Given the description of an element on the screen output the (x, y) to click on. 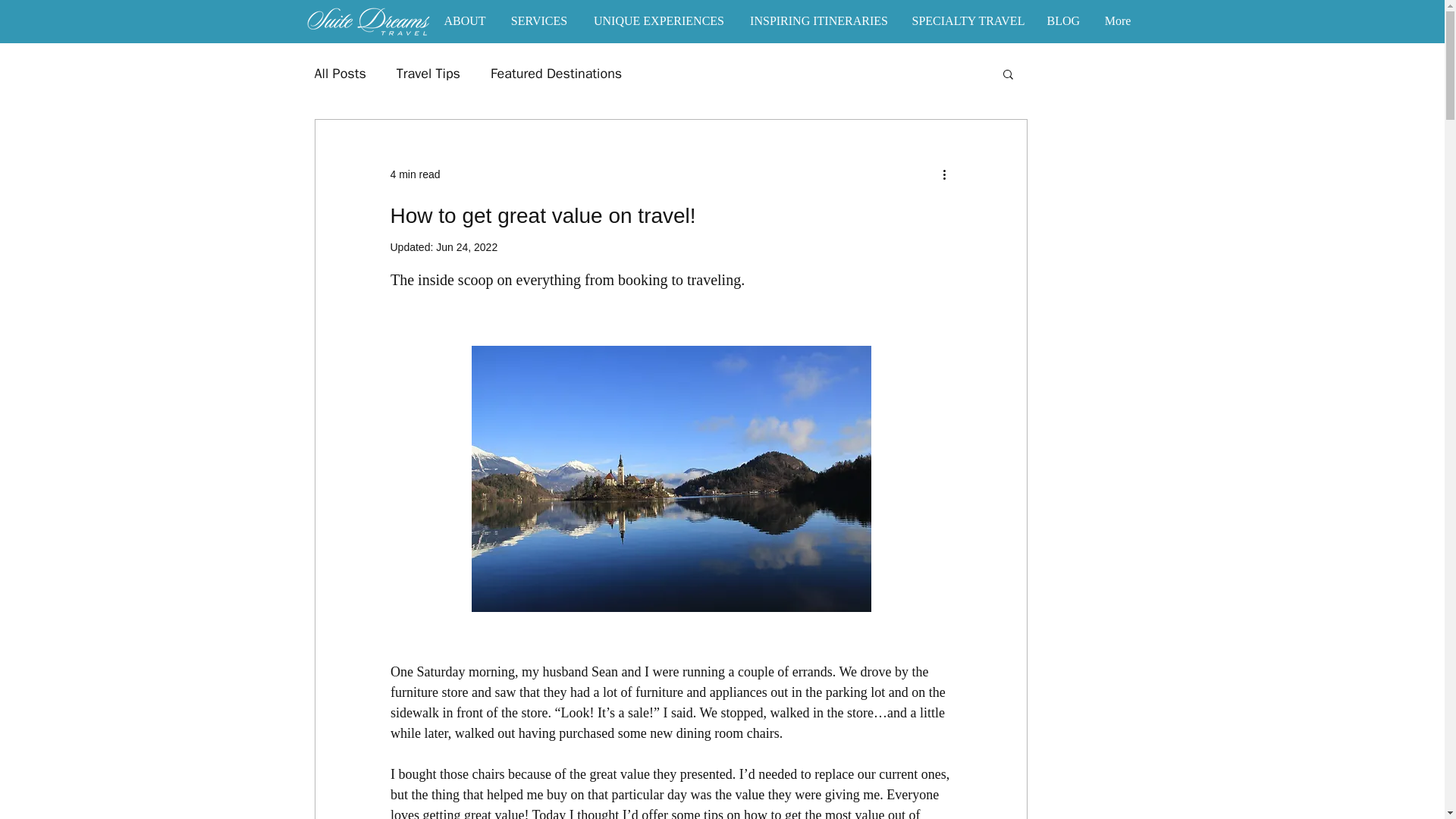
Travel Tips (428, 73)
SPECIALTY TRAVEL (968, 20)
4 min read (414, 174)
Jun 24, 2022 (466, 246)
Featured Destinations (555, 73)
UNIQUE EXPERIENCES (659, 20)
SERVICES (538, 20)
BLOG (1062, 20)
All Posts (339, 73)
ABOUT (464, 20)
INSPIRING ITINERARIES (817, 20)
